Given the description of an element on the screen output the (x, y) to click on. 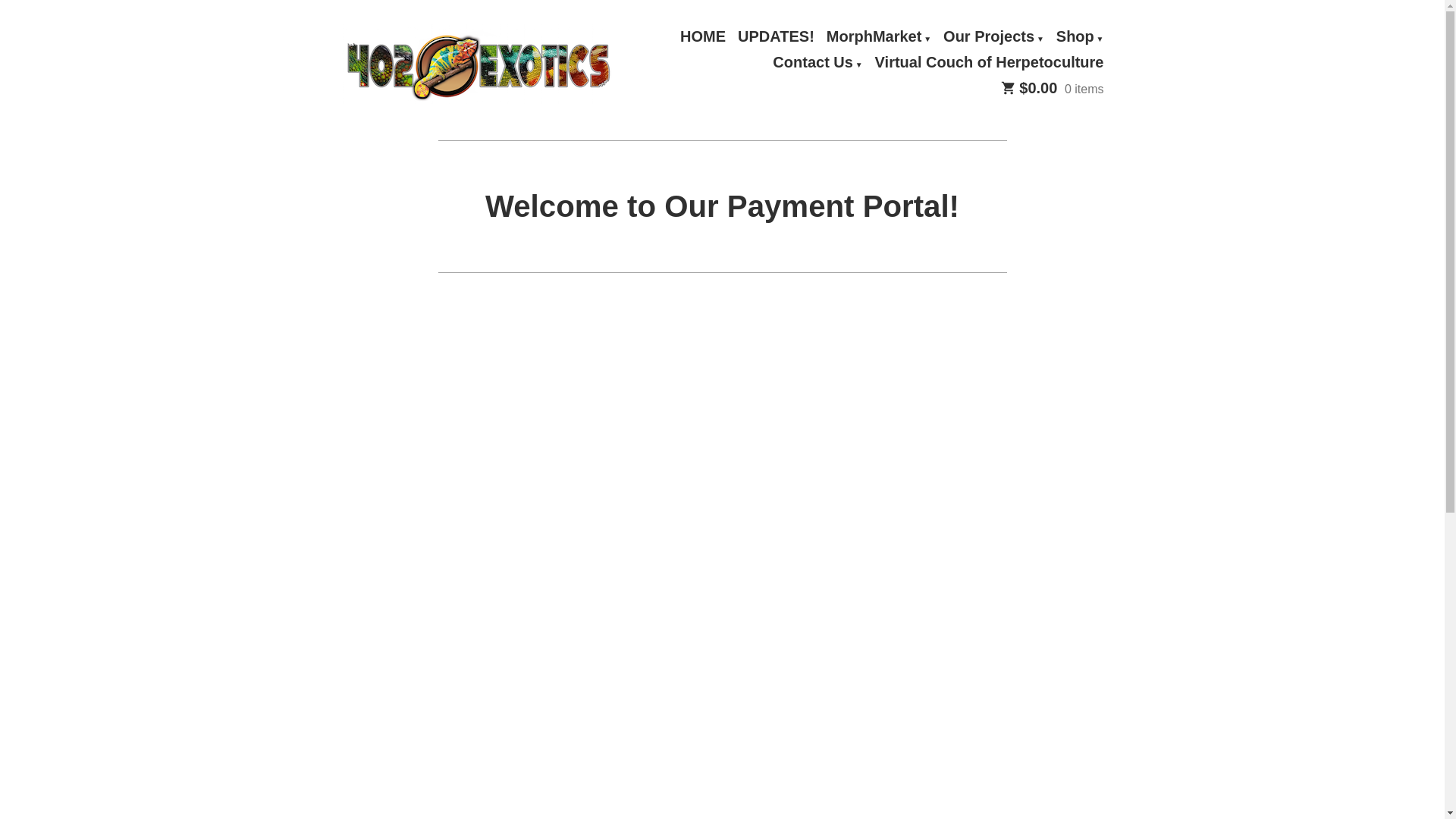
MorphMarket Element type: text (878, 36)
Virtual Couch of Herpetoculture Element type: text (989, 62)
Shop Element type: text (1080, 36)
Our Projects Element type: text (993, 36)
Contact Us Element type: text (817, 62)
402 EXOTICS LLC Element type: text (454, 102)
HOME Element type: text (702, 36)
UPDATES! Element type: text (775, 36)
$0.00 0 items Element type: text (1052, 88)
